Given the description of an element on the screen output the (x, y) to click on. 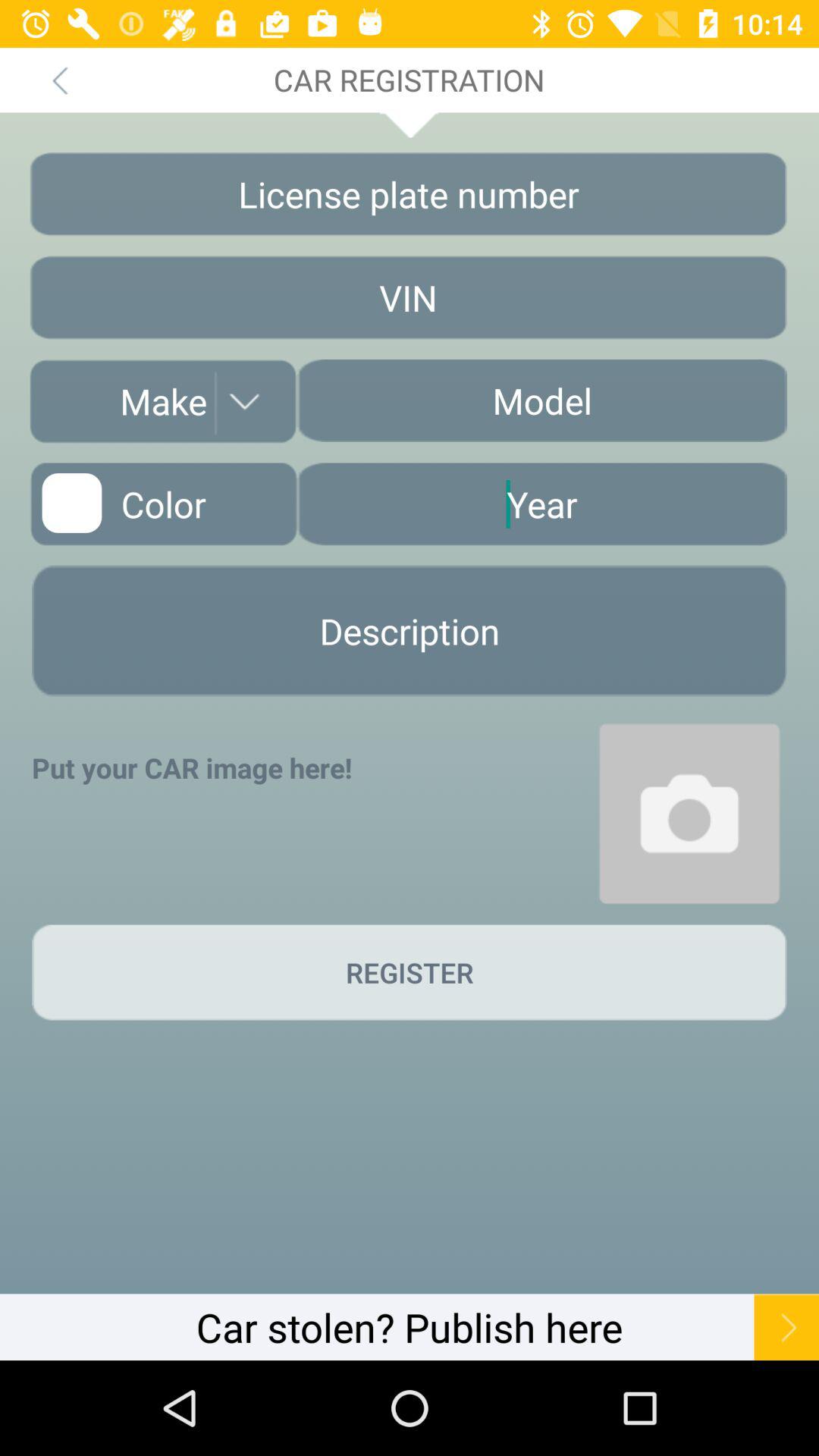
enter a vin number (408, 297)
